Given the description of an element on the screen output the (x, y) to click on. 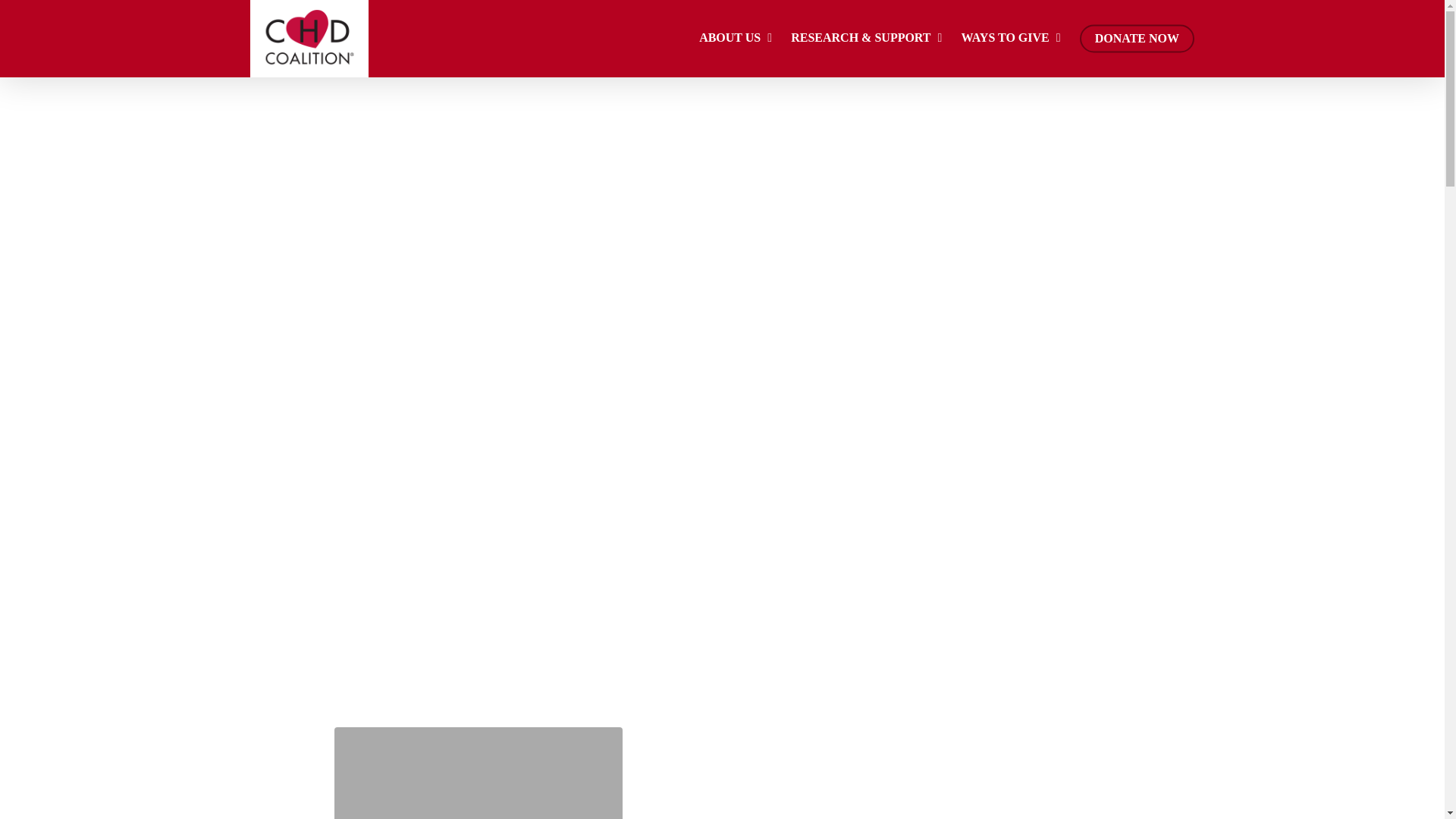
DONATE NOW (1136, 38)
ABOUT US (737, 38)
WAYS TO GIVE (1012, 38)
